Given the description of an element on the screen output the (x, y) to click on. 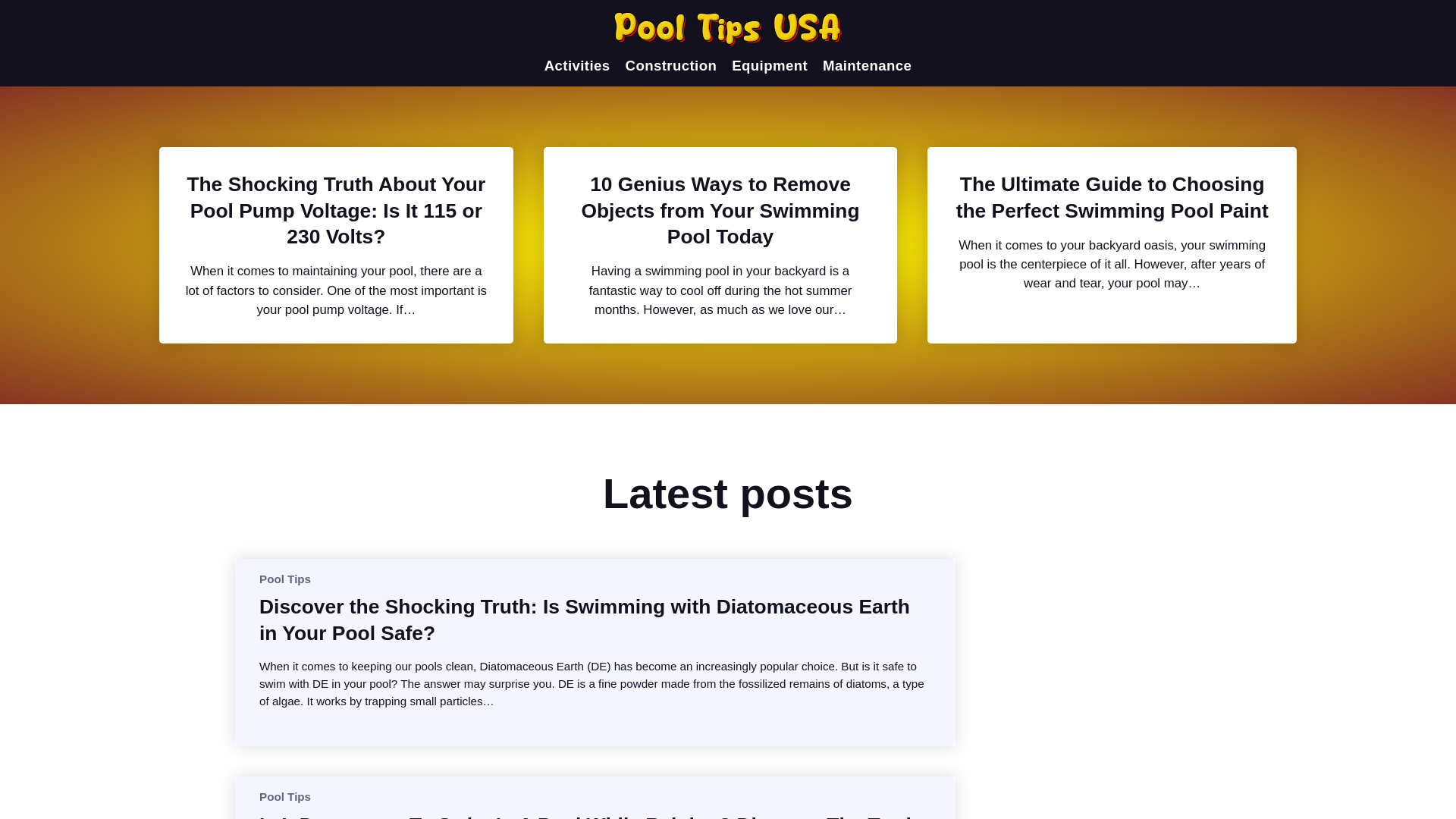
Pool Tips (285, 577)
Maintenance (866, 65)
Activities (577, 65)
Construction (671, 65)
Pool Tips (285, 796)
